Given the description of an element on the screen output the (x, y) to click on. 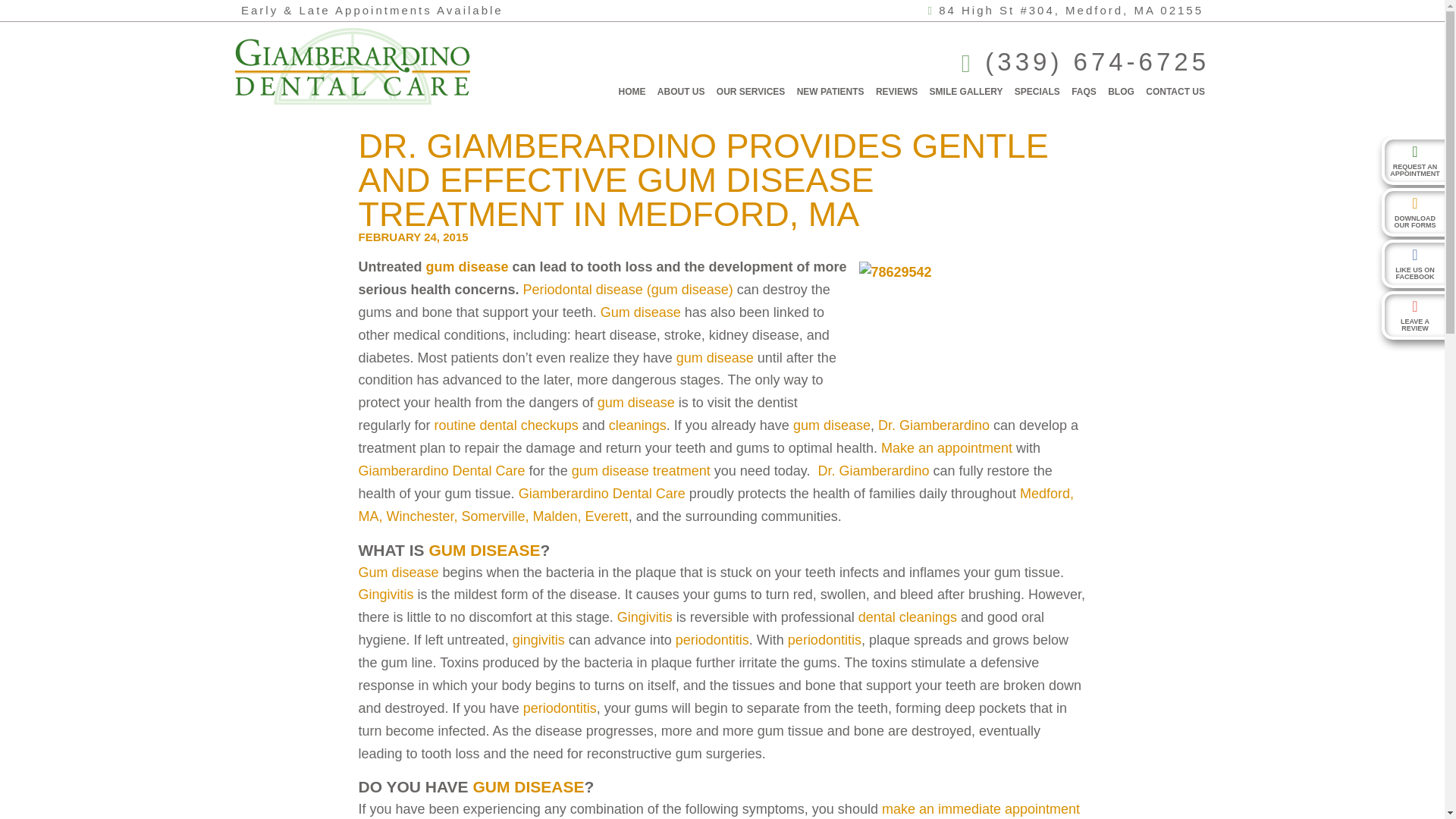
OUR SERVICES (750, 91)
BLOG (1120, 91)
SPECIALS (1037, 91)
CONTACT US (1175, 91)
REVIEWS (895, 91)
HOME (632, 91)
NEW PATIENTS (830, 91)
SMILE GALLERY (965, 91)
ABOUT US (681, 91)
